Given the description of an element on the screen output the (x, y) to click on. 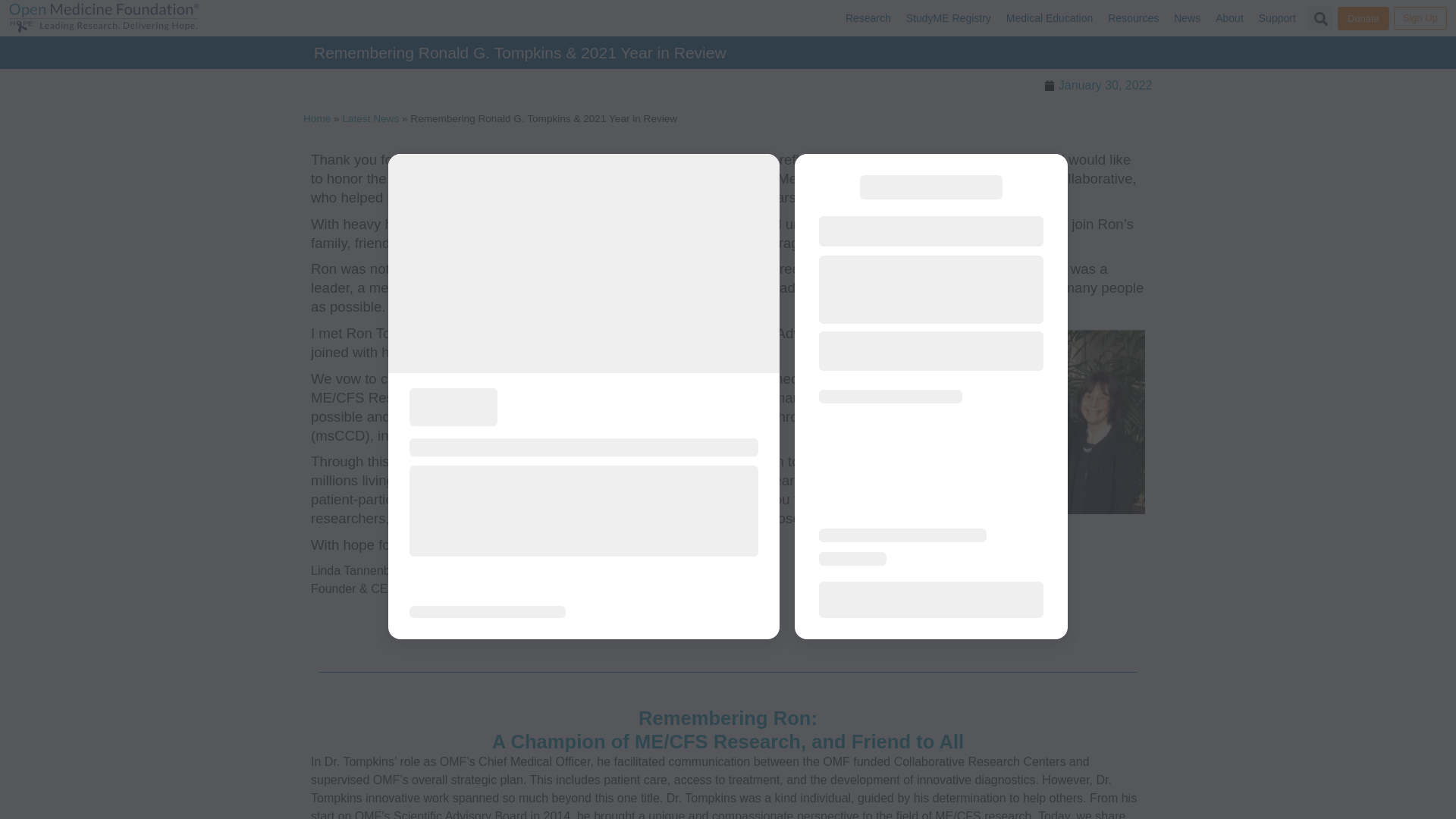
StudyME Registry (948, 18)
Research (868, 18)
Medical Education (1049, 18)
About (1229, 18)
News (1187, 18)
Resources (1133, 18)
